Given the description of an element on the screen output the (x, y) to click on. 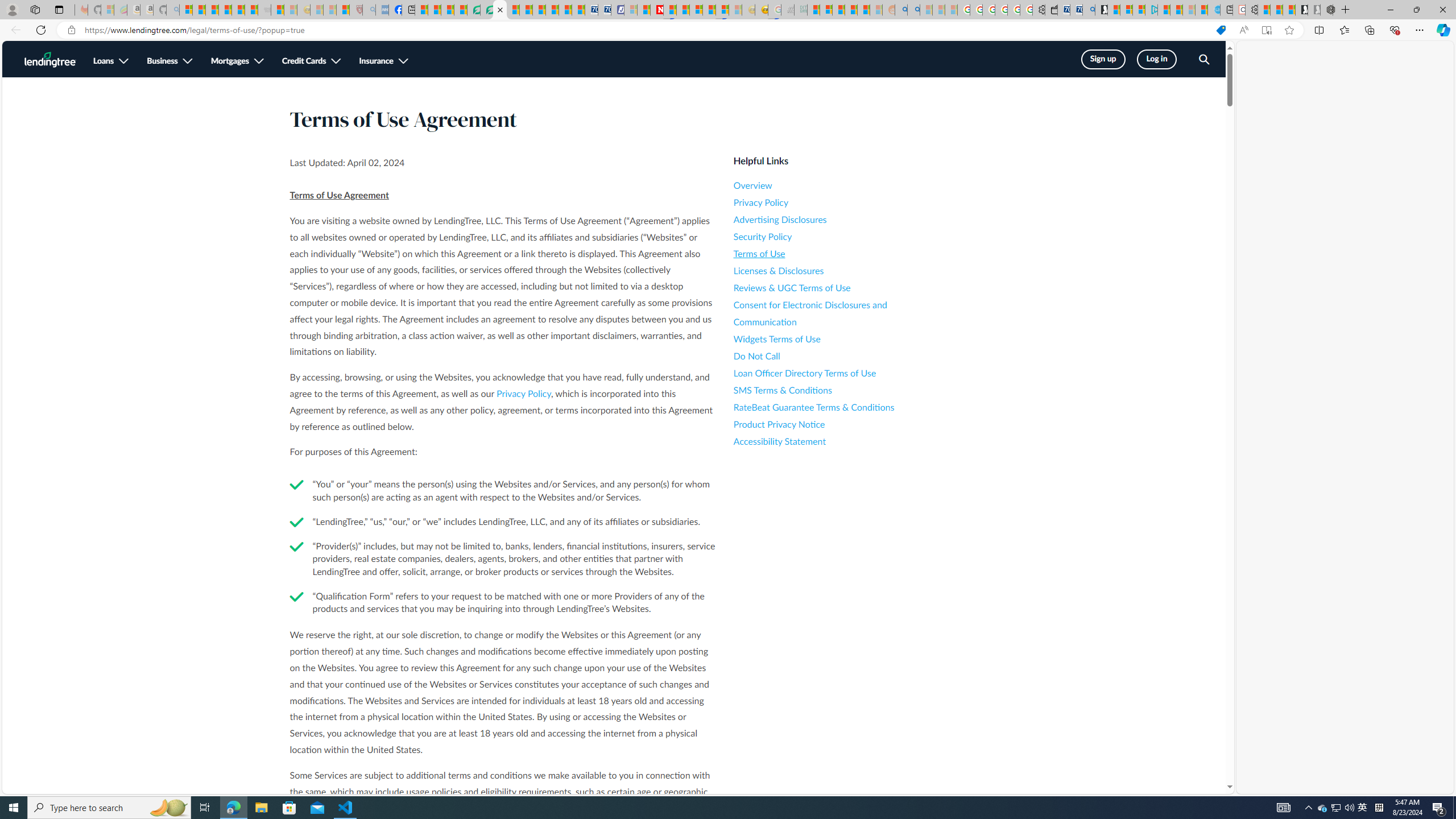
Accessibility Statement (836, 441)
Loan Officer Directory Terms of Use (836, 373)
Advertising Disclosures (836, 219)
Log in (1156, 58)
